Given the description of an element on the screen output the (x, y) to click on. 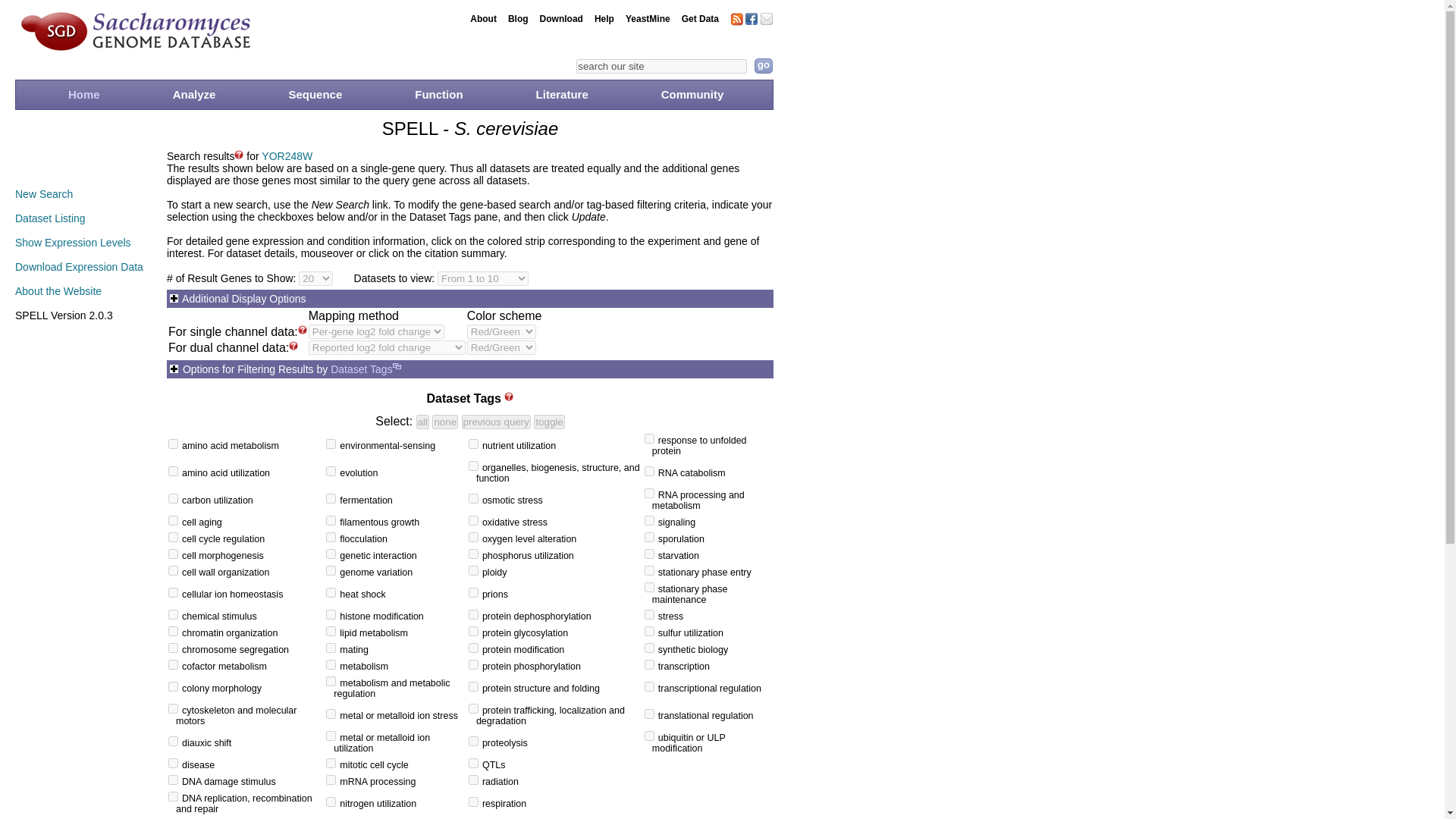
Home (84, 98)
organelles, biogenesis, structure, and function (473, 465)
About (483, 18)
osmotic stress (473, 498)
YeastMine (647, 18)
nutrient utilization (473, 443)
all (422, 421)
RNA processing and metabolism (649, 492)
Click to open or close the drop-down pane (249, 369)
amino acid metabolism (172, 443)
evolution (331, 470)
none (445, 421)
